Given the description of an element on the screen output the (x, y) to click on. 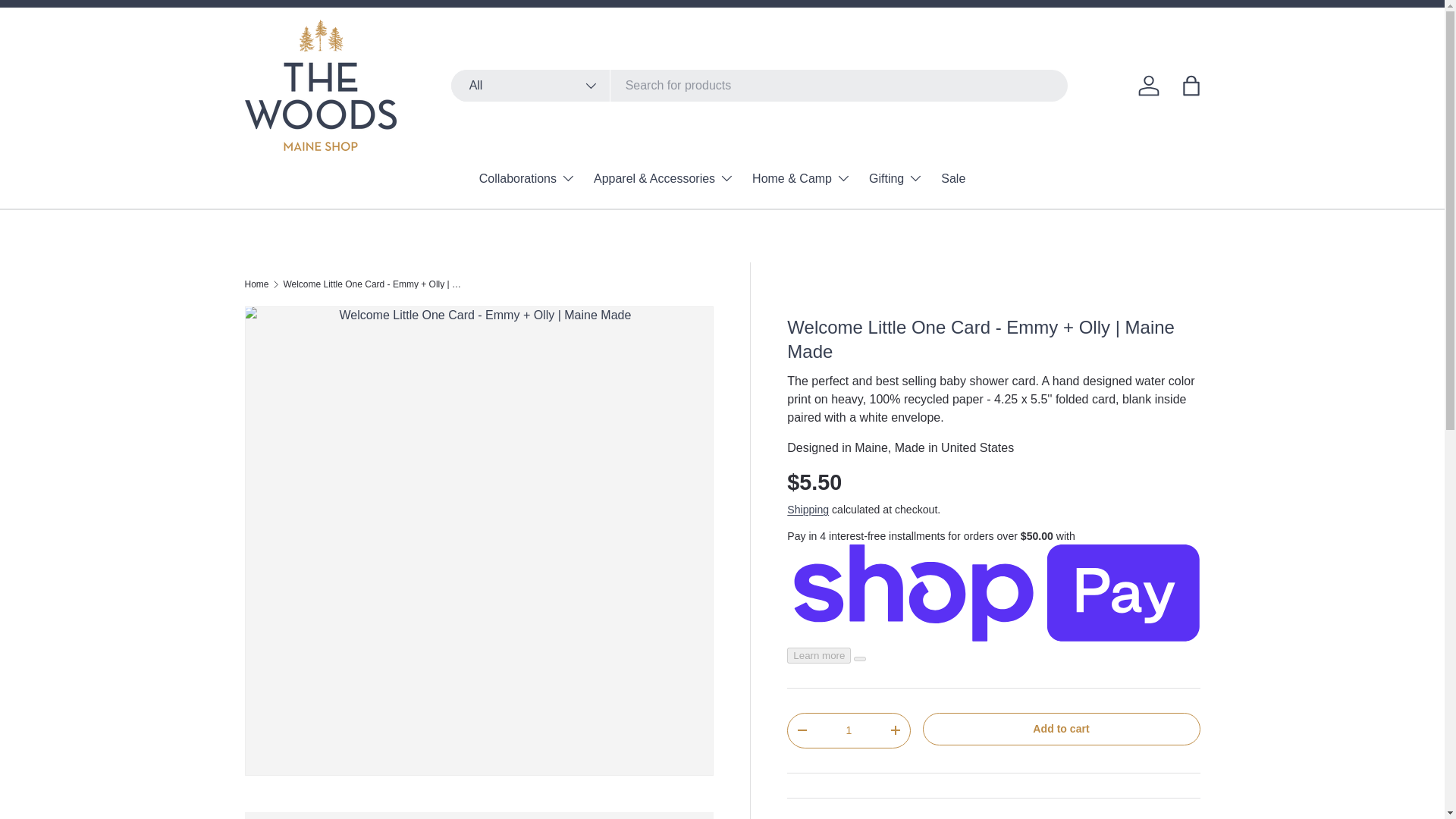
Log in (1147, 84)
All (530, 85)
1 (848, 730)
Collaborations (527, 177)
Bag (1190, 84)
Skip to content (68, 21)
